Given the description of an element on the screen output the (x, y) to click on. 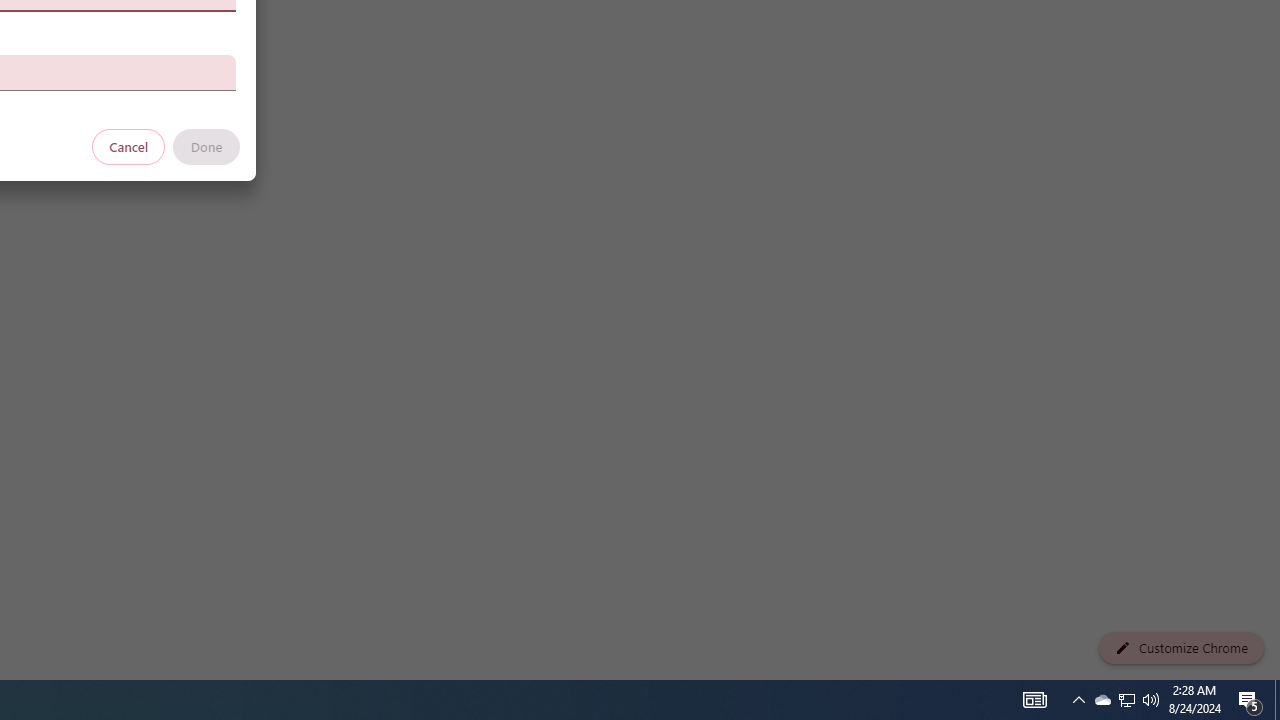
Done (206, 146)
Cancel (129, 146)
